Given the description of an element on the screen output the (x, y) to click on. 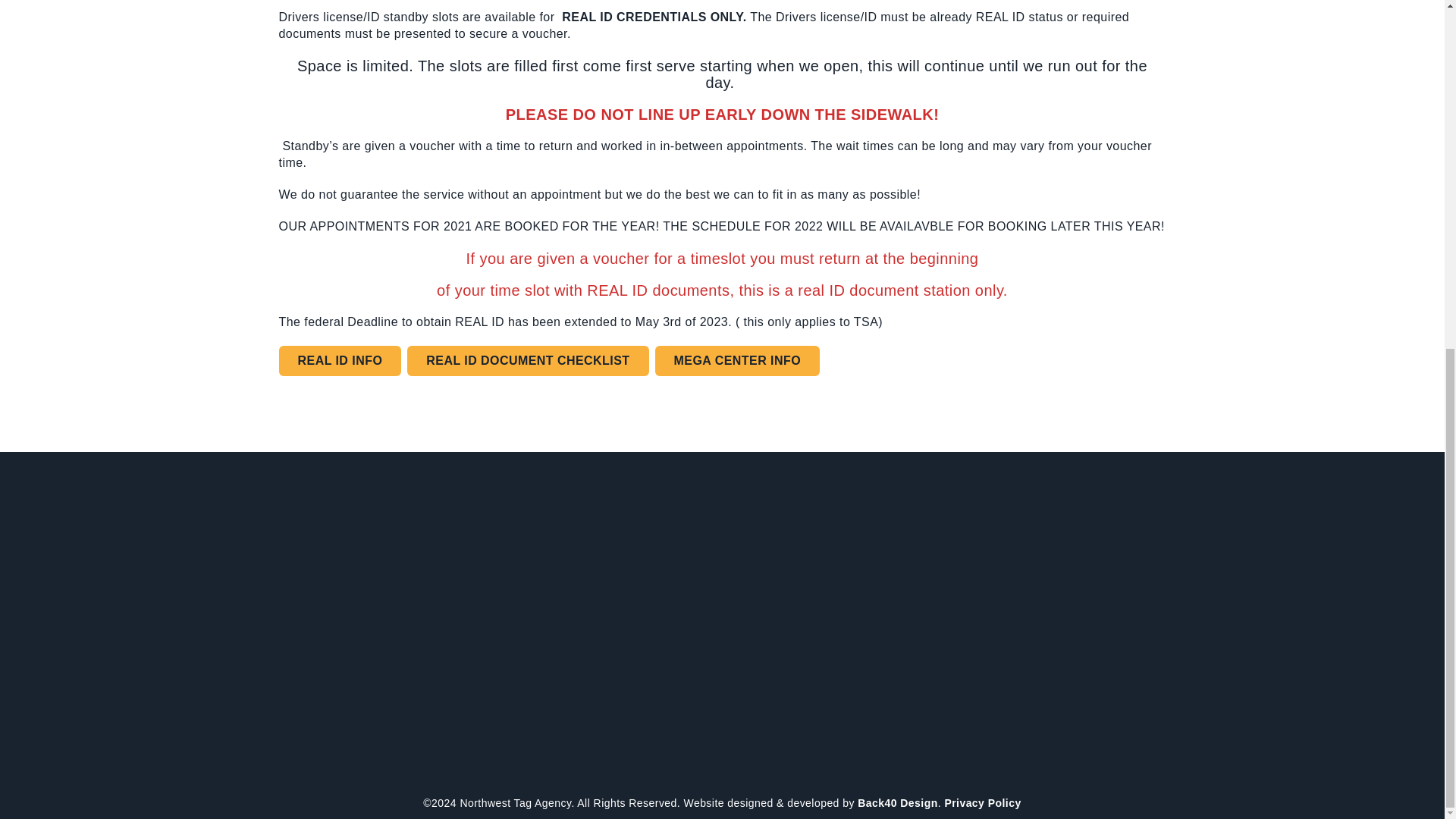
MEGA CENTER INFO (738, 360)
Privacy Policy (981, 802)
Back40 Design (897, 802)
REAL ID INFO (340, 360)
REAL ID DOCUMENT CHECKLIST (527, 360)
